Given the description of an element on the screen output the (x, y) to click on. 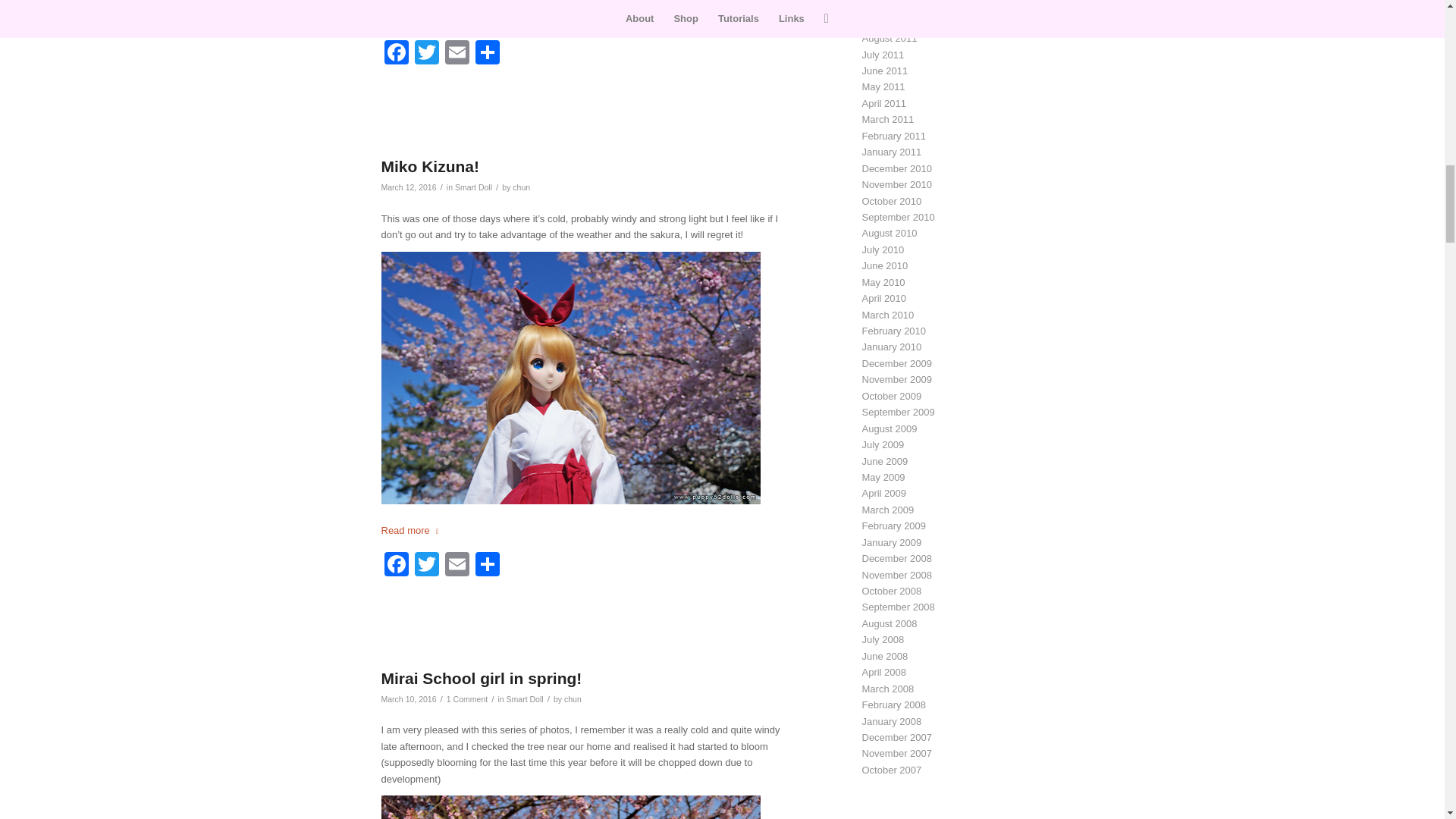
Permanent Link: Miko Kizuna! (429, 166)
Facebook (395, 53)
Twitter (425, 53)
chun (520, 186)
Twitter (425, 53)
Smart Doll (473, 186)
Read more (412, 530)
Email (456, 53)
Miko Kizuna! (429, 166)
Facebook (395, 53)
Facebook (395, 565)
Read more (412, 19)
Email (456, 53)
Posts by chun (520, 186)
Share (486, 53)
